Given the description of an element on the screen output the (x, y) to click on. 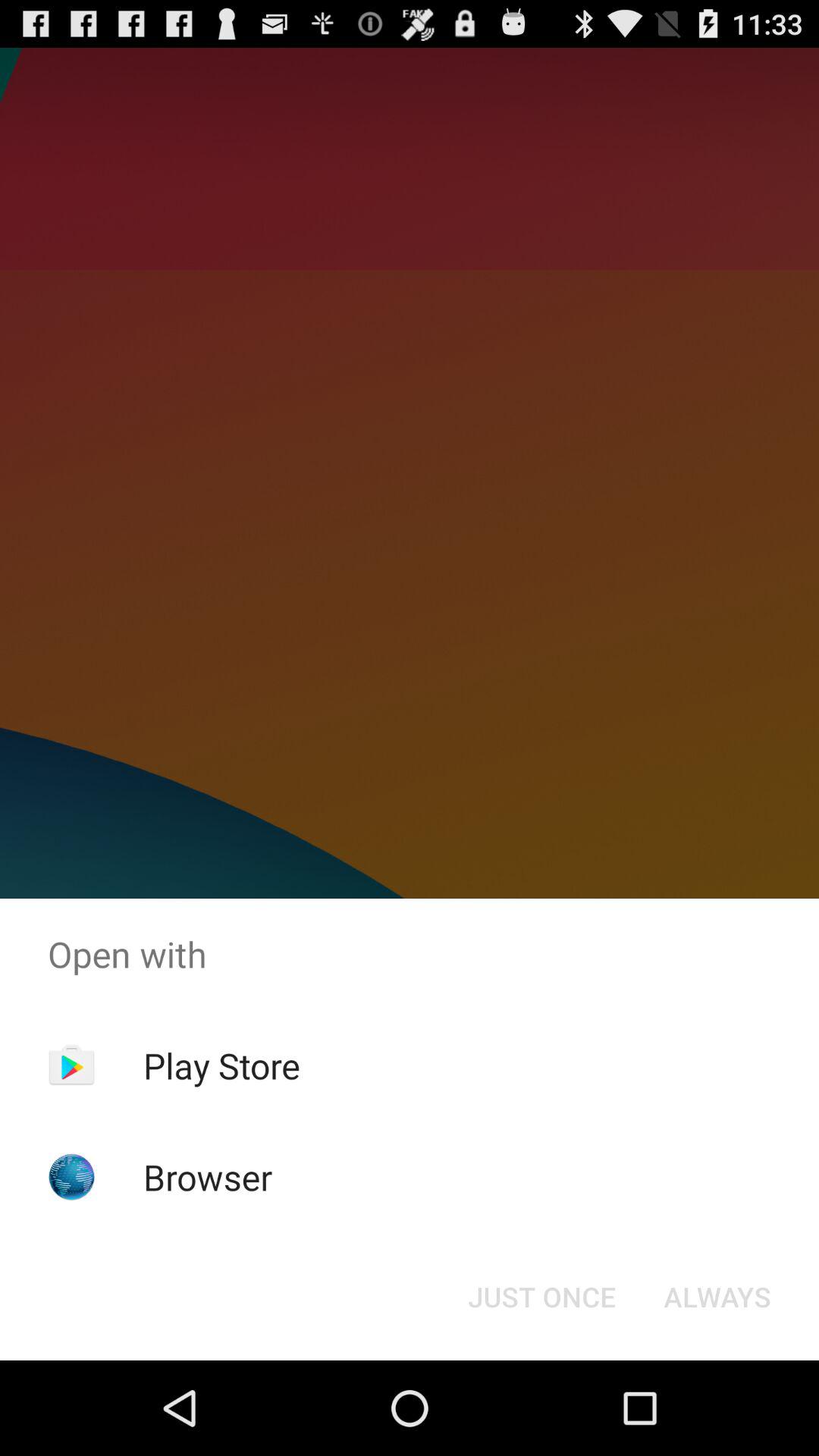
open the button next to the always (541, 1296)
